Given the description of an element on the screen output the (x, y) to click on. 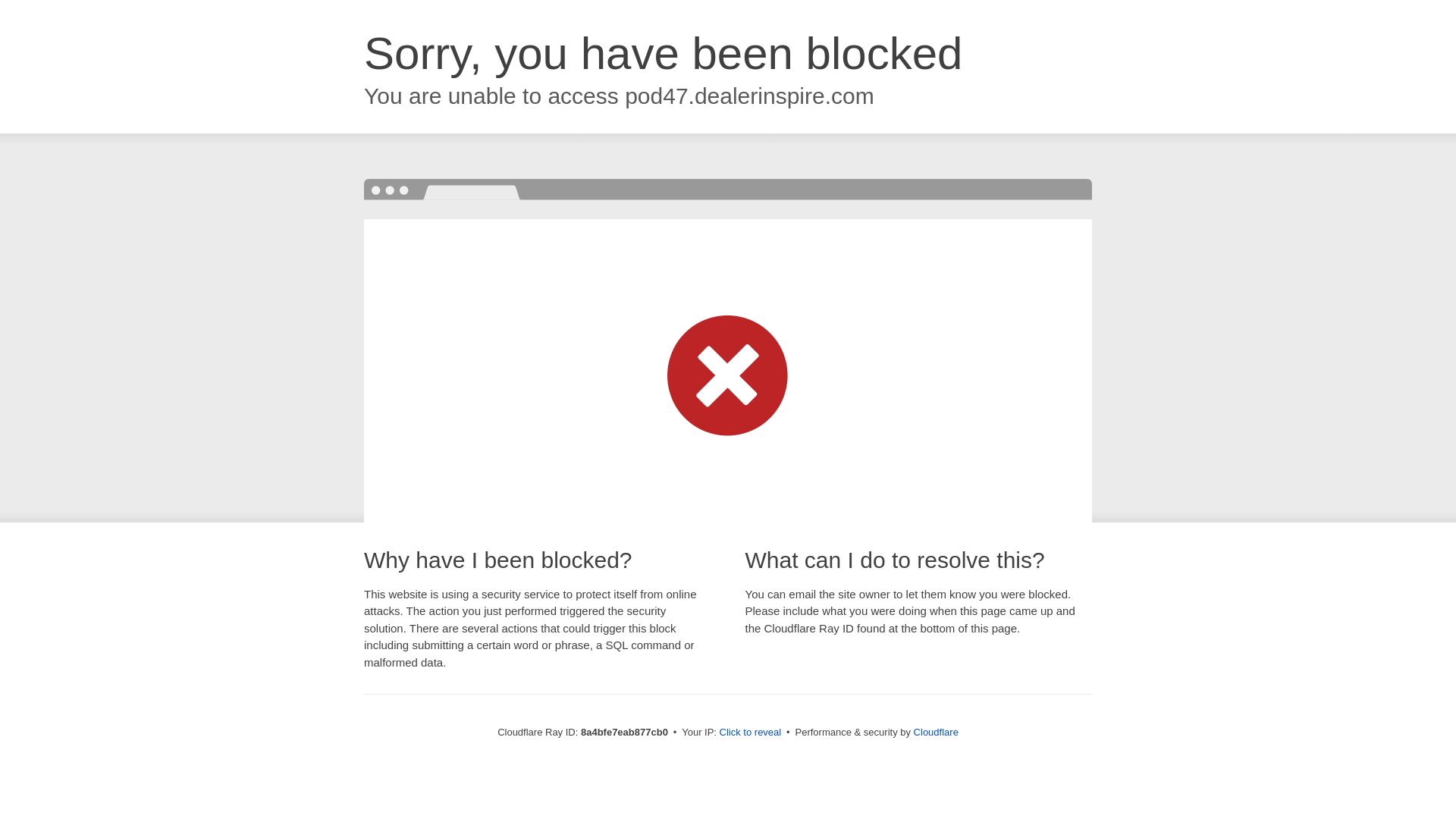
Cloudflare (936, 731)
Click to reveal (750, 732)
